Given the description of an element on the screen output the (x, y) to click on. 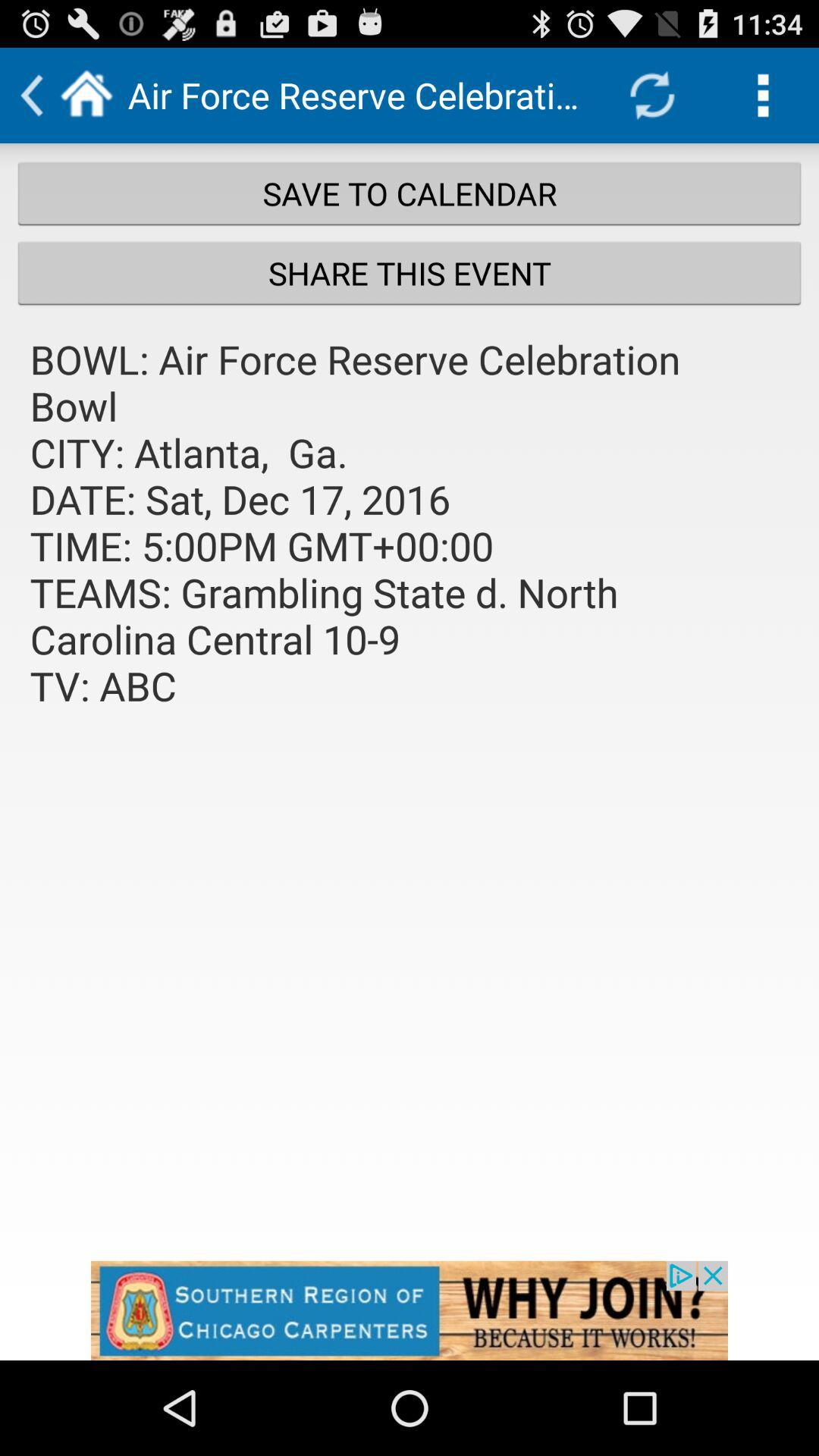
refresh (651, 95)
